Given the description of an element on the screen output the (x, y) to click on. 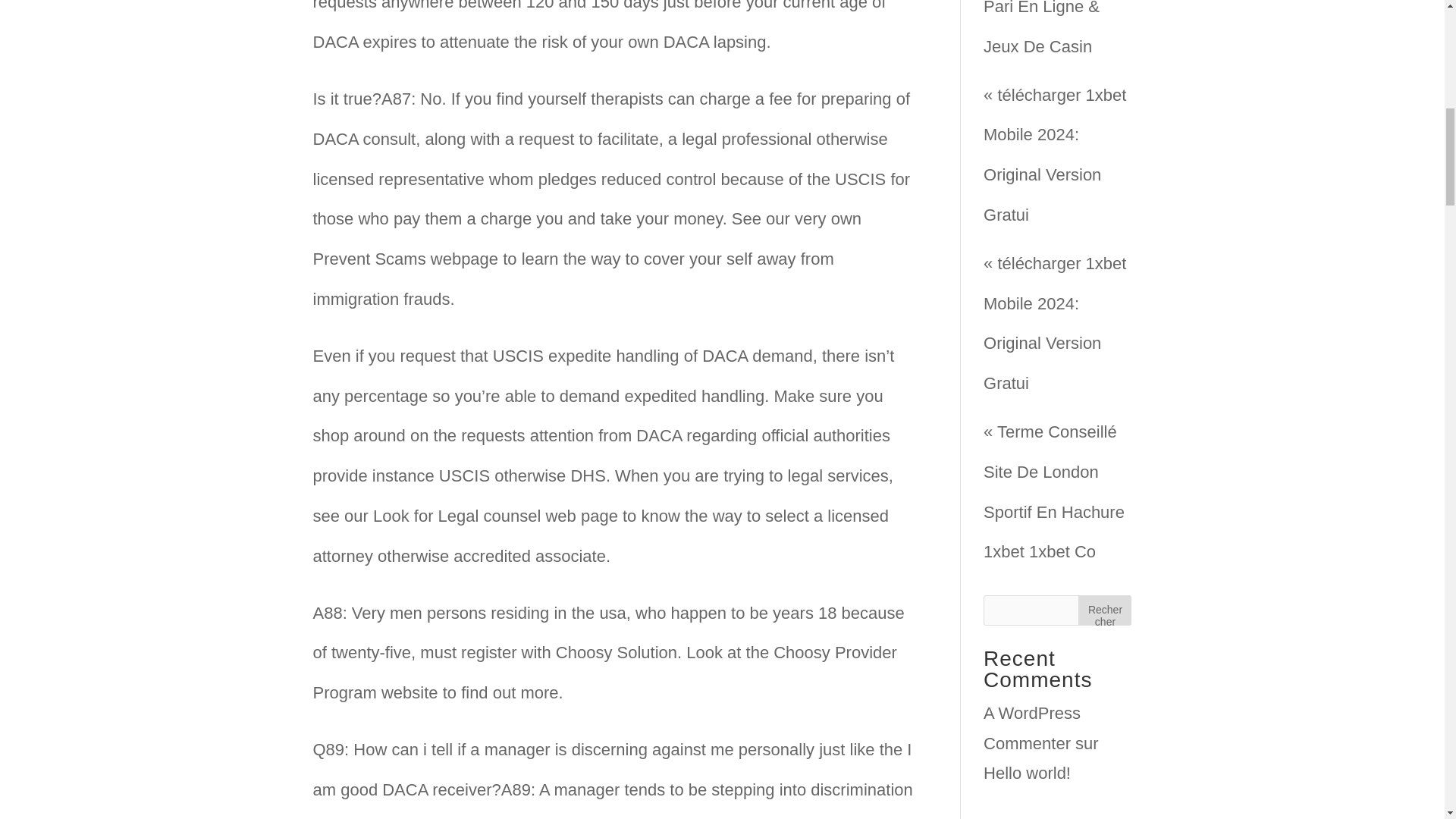
A WordPress Commenter (1032, 727)
Rechercher (1104, 610)
Hello world! (1027, 772)
